Given the description of an element on the screen output the (x, y) to click on. 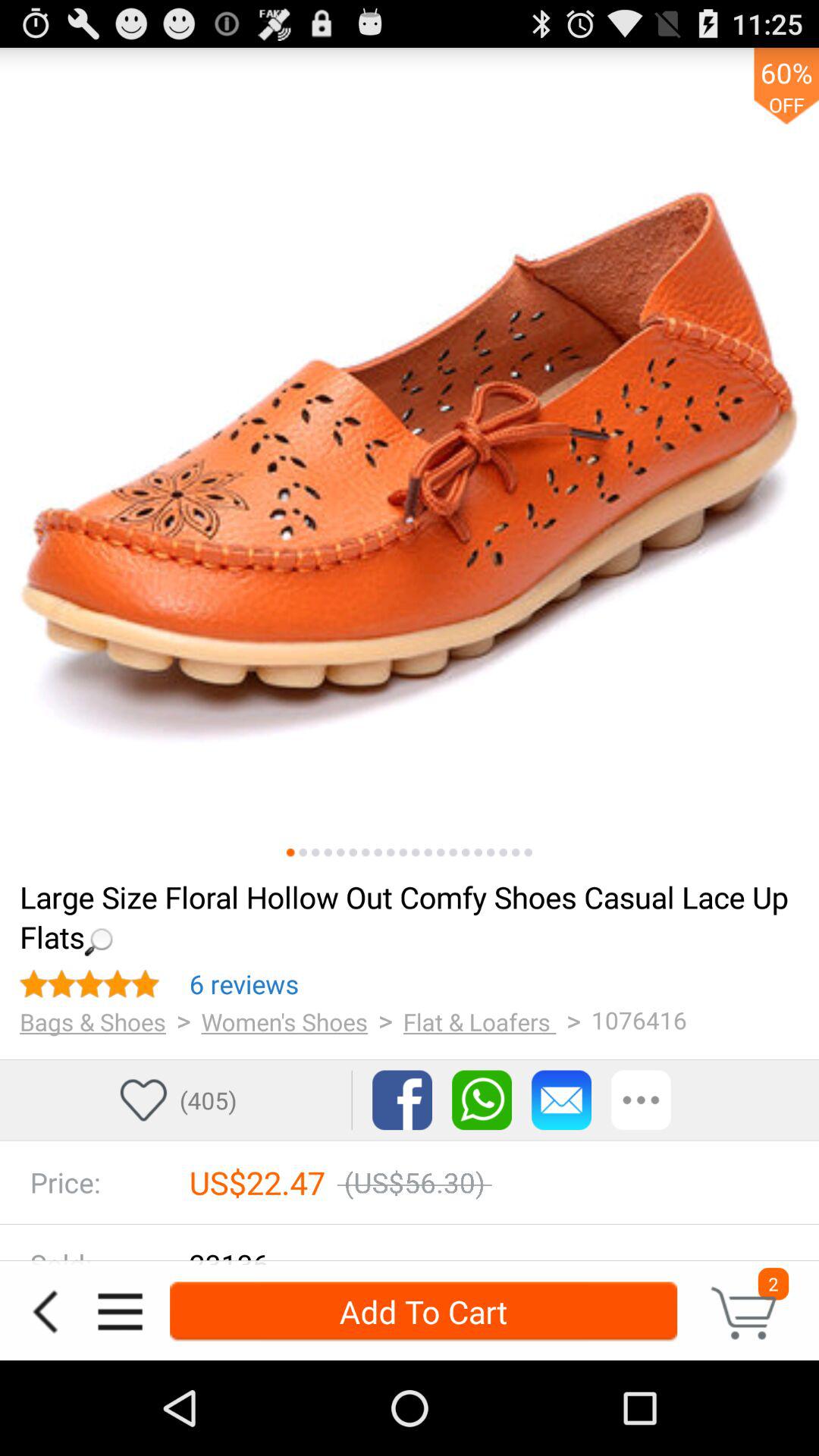
next image (303, 852)
